Given the description of an element on the screen output the (x, y) to click on. 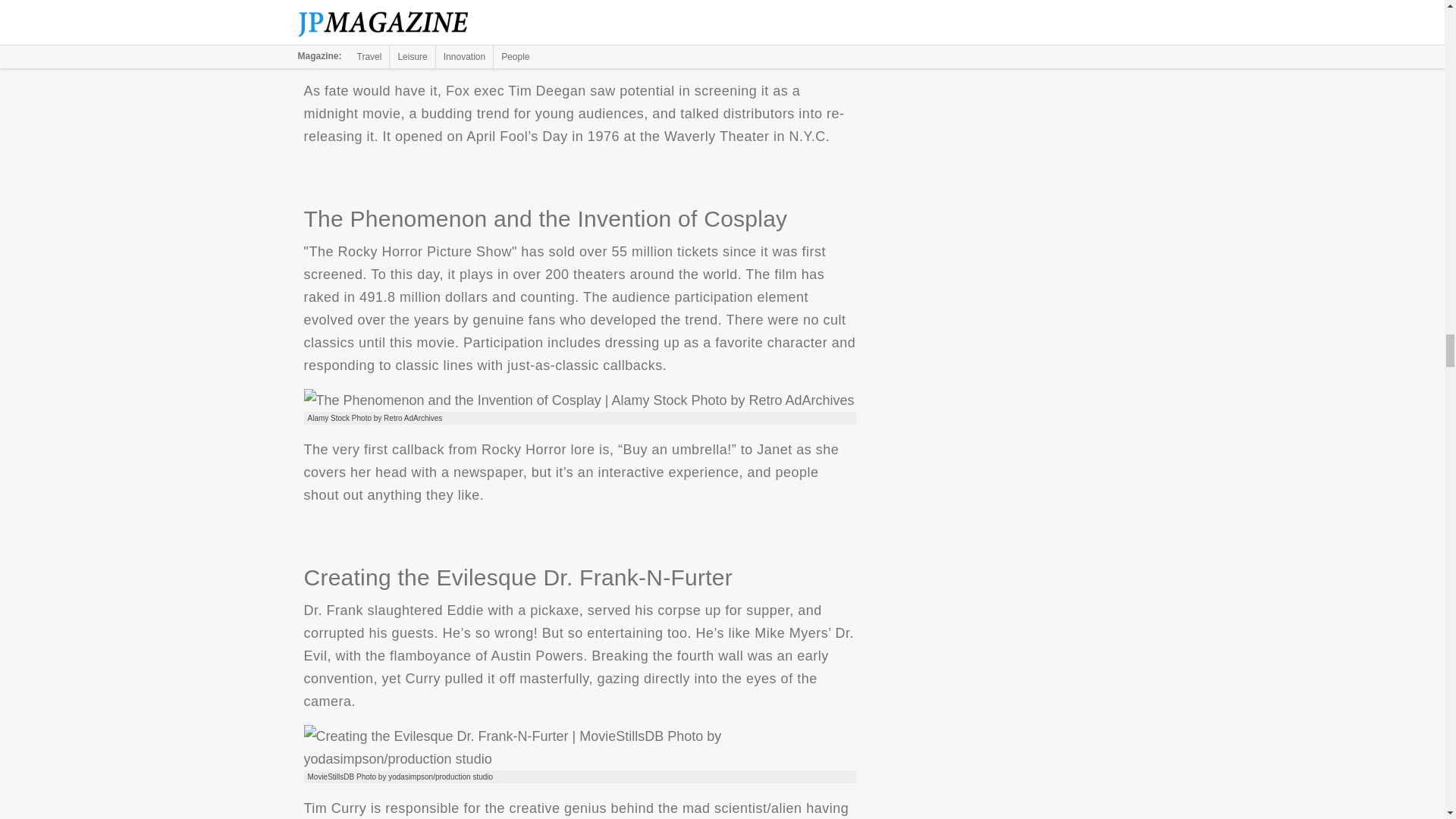
Creating the Evilesque Dr. Frank-N-Furter (579, 747)
It Tanked in Theaters (517, 41)
The Phenomenon and the Invention of Cosplay (577, 400)
